Given the description of an element on the screen output the (x, y) to click on. 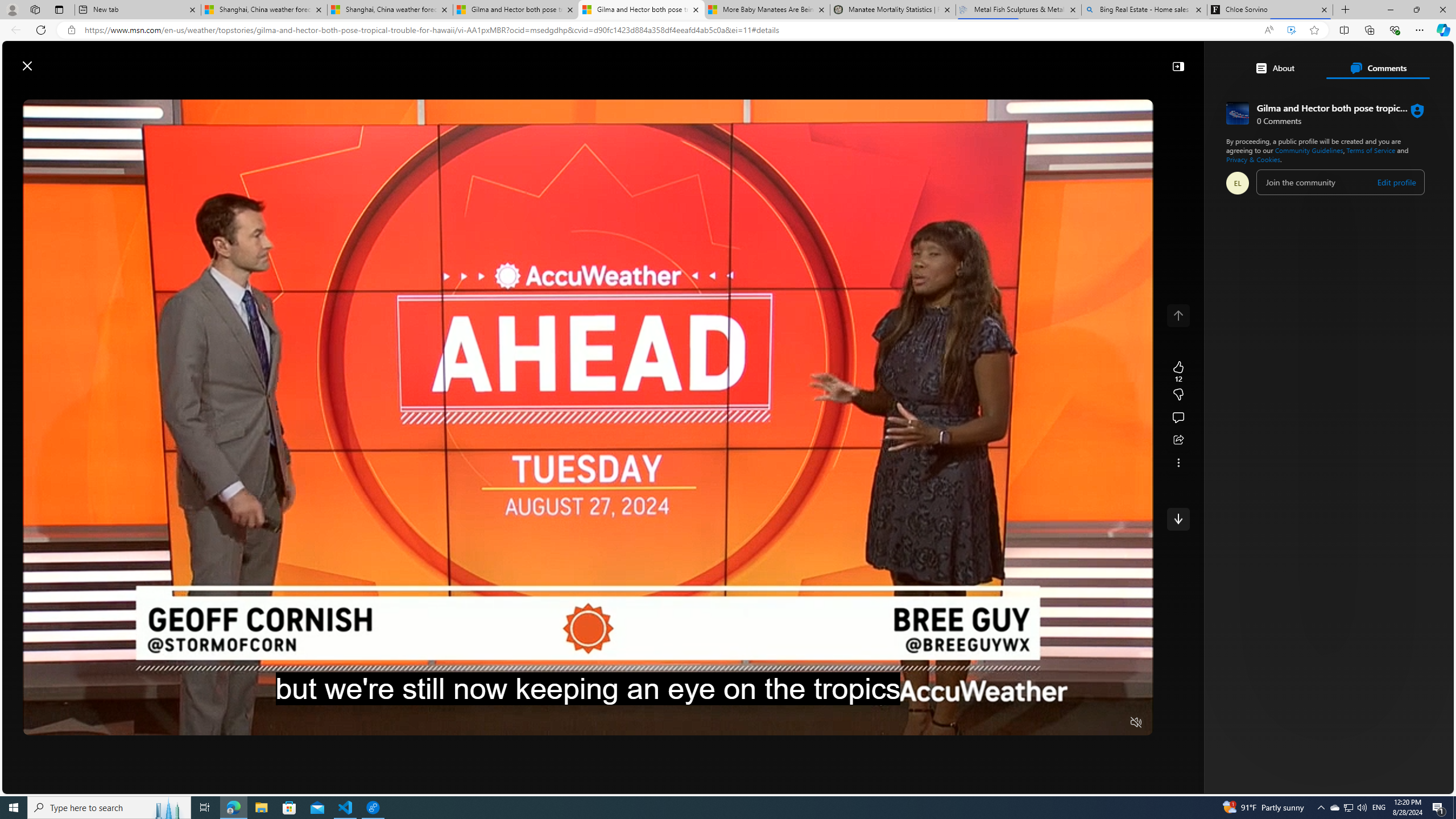
The Wall Street Journal (1170, 415)
The Associated Press (1170, 366)
Class: control icon-only (1178, 315)
Share this story (1178, 440)
Captions (1091, 723)
Quality Settings (1069, 723)
Bing Real Estate - Home sales and rental listings (1143, 9)
